Given the description of an element on the screen output the (x, y) to click on. 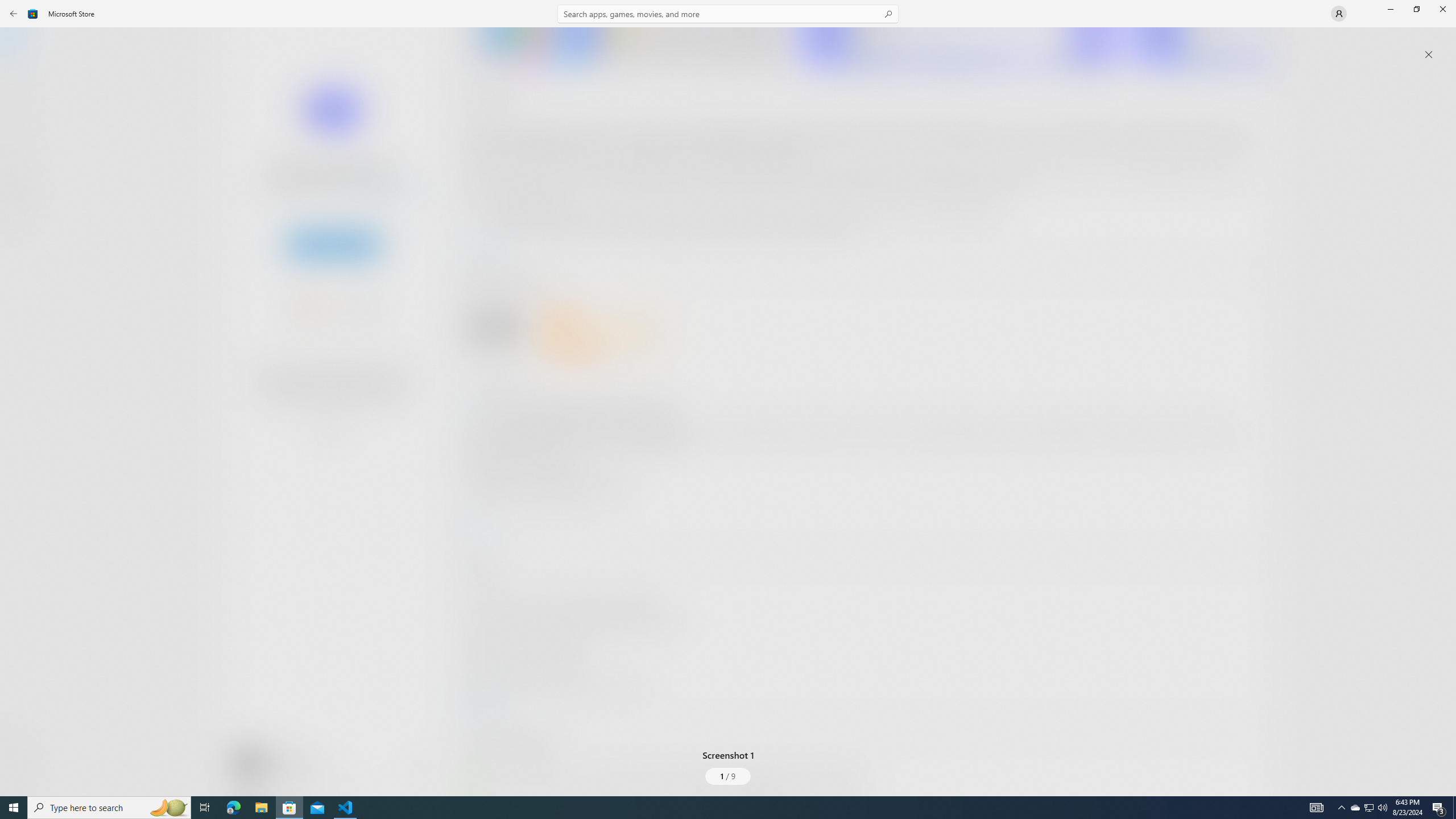
Arcade (20, 150)
